Given the description of an element on the screen output the (x, y) to click on. 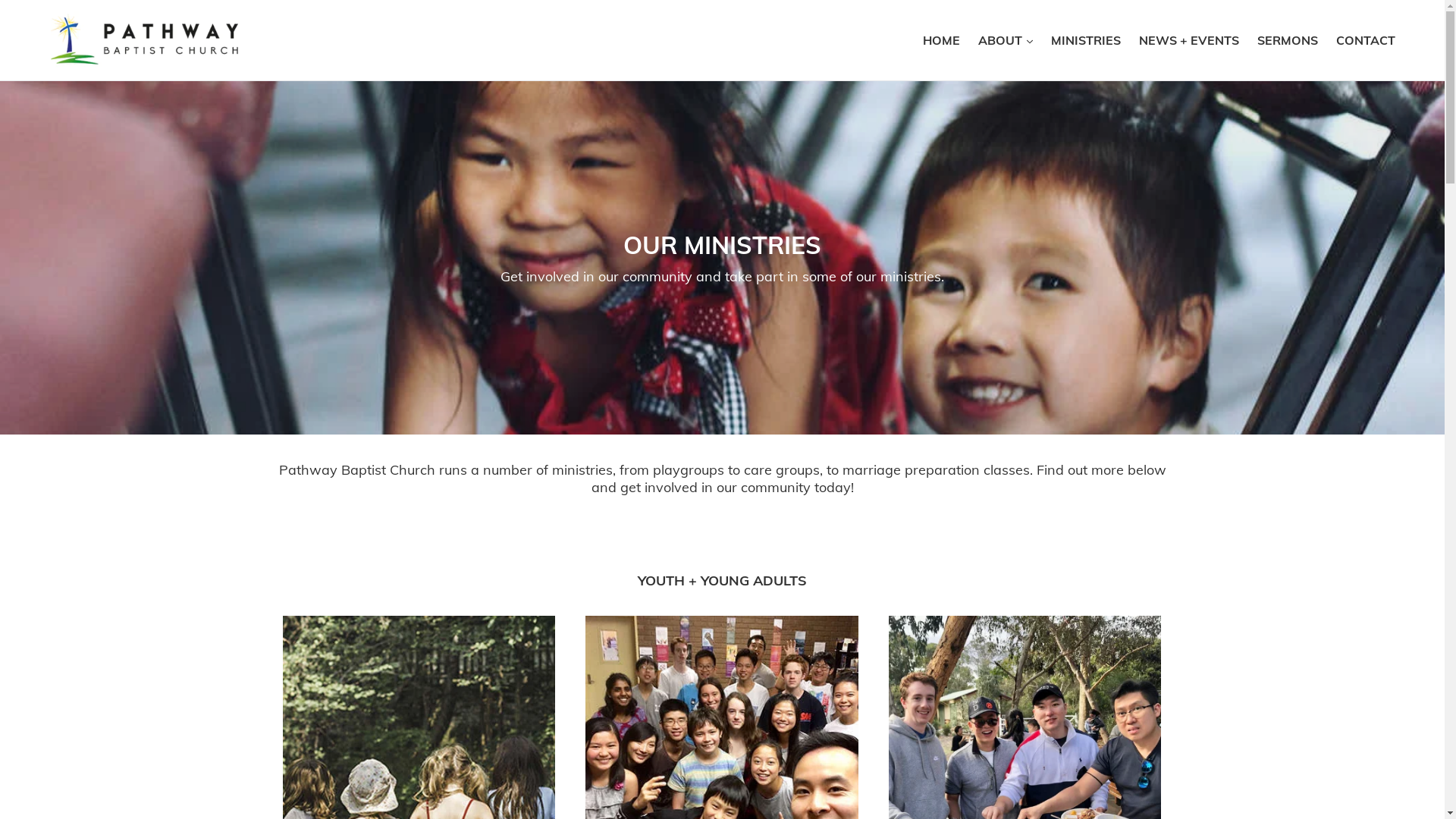
MINISTRIES Element type: text (1085, 39)
NEWS + EVENTS Element type: text (1188, 39)
CONTACT Element type: text (1365, 39)
HOME Element type: text (941, 39)
SERMONS Element type: text (1287, 39)
